Given the description of an element on the screen output the (x, y) to click on. 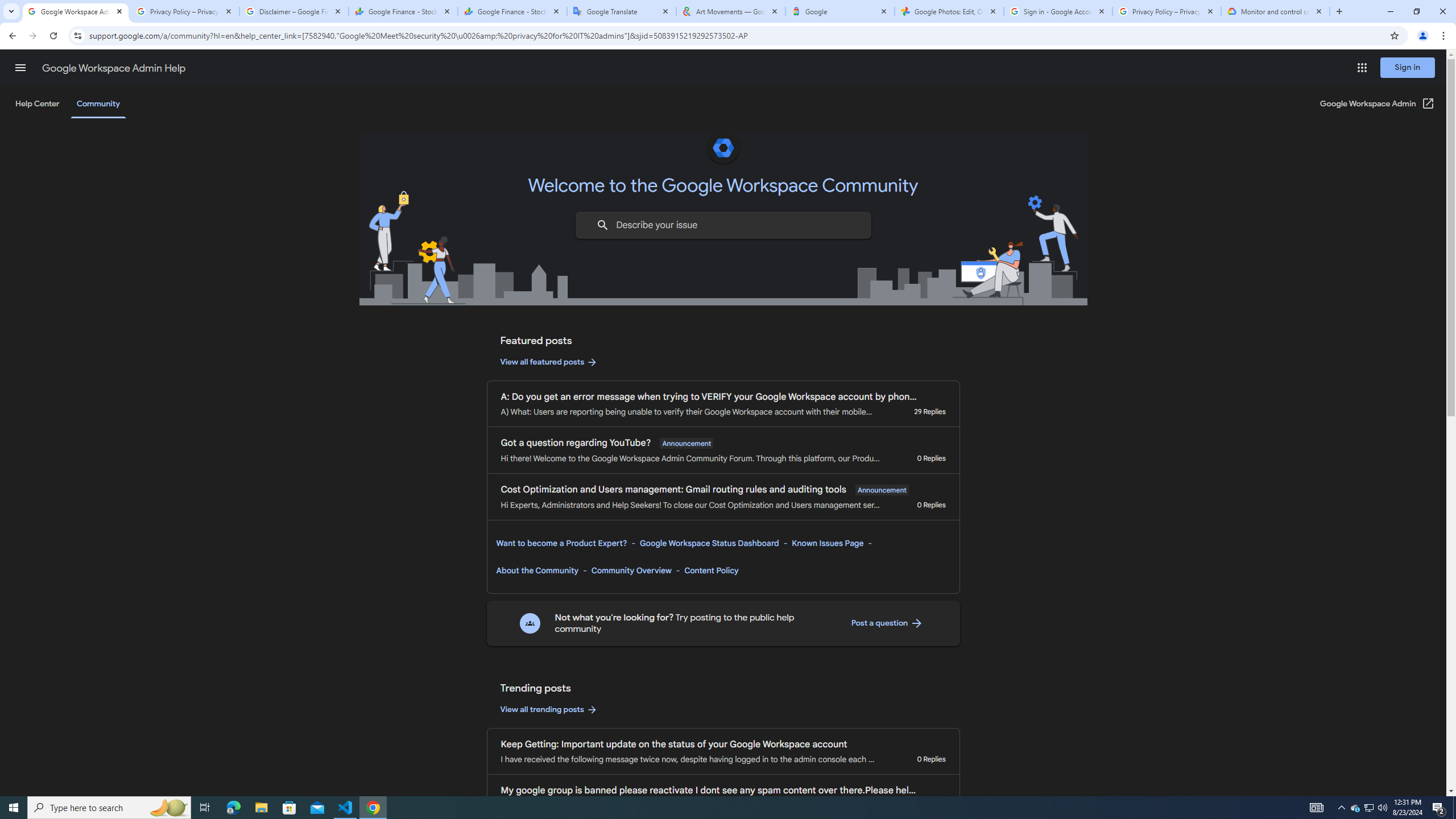
Want to become a Product Expert? (561, 542)
Google (839, 11)
Google Workspace Admin (Open in a new window) (1377, 103)
Google Translate (621, 11)
Google Workspace Status Dashboard (708, 542)
Community (97, 103)
Main menu (20, 67)
View all trending posts (548, 709)
